Given the description of an element on the screen output the (x, y) to click on. 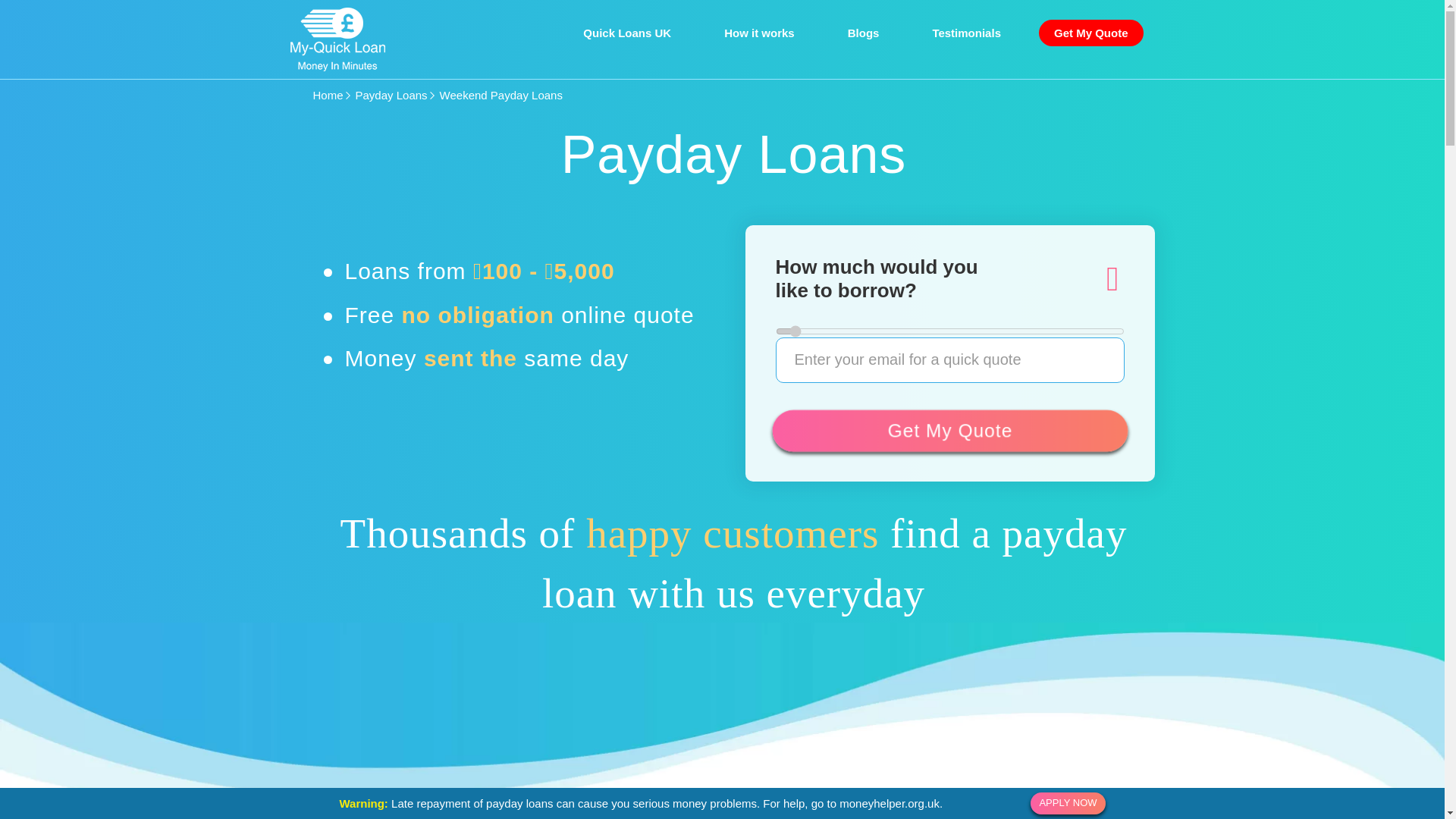
Get My Quote (1090, 32)
Payday Loans (391, 94)
How it works (759, 32)
Home (327, 94)
Blogs (863, 32)
Testimonials (966, 32)
Payday Loans (391, 94)
300 (949, 331)
Get My Quote (947, 429)
Quick Loans UK (626, 32)
